Given the description of an element on the screen output the (x, y) to click on. 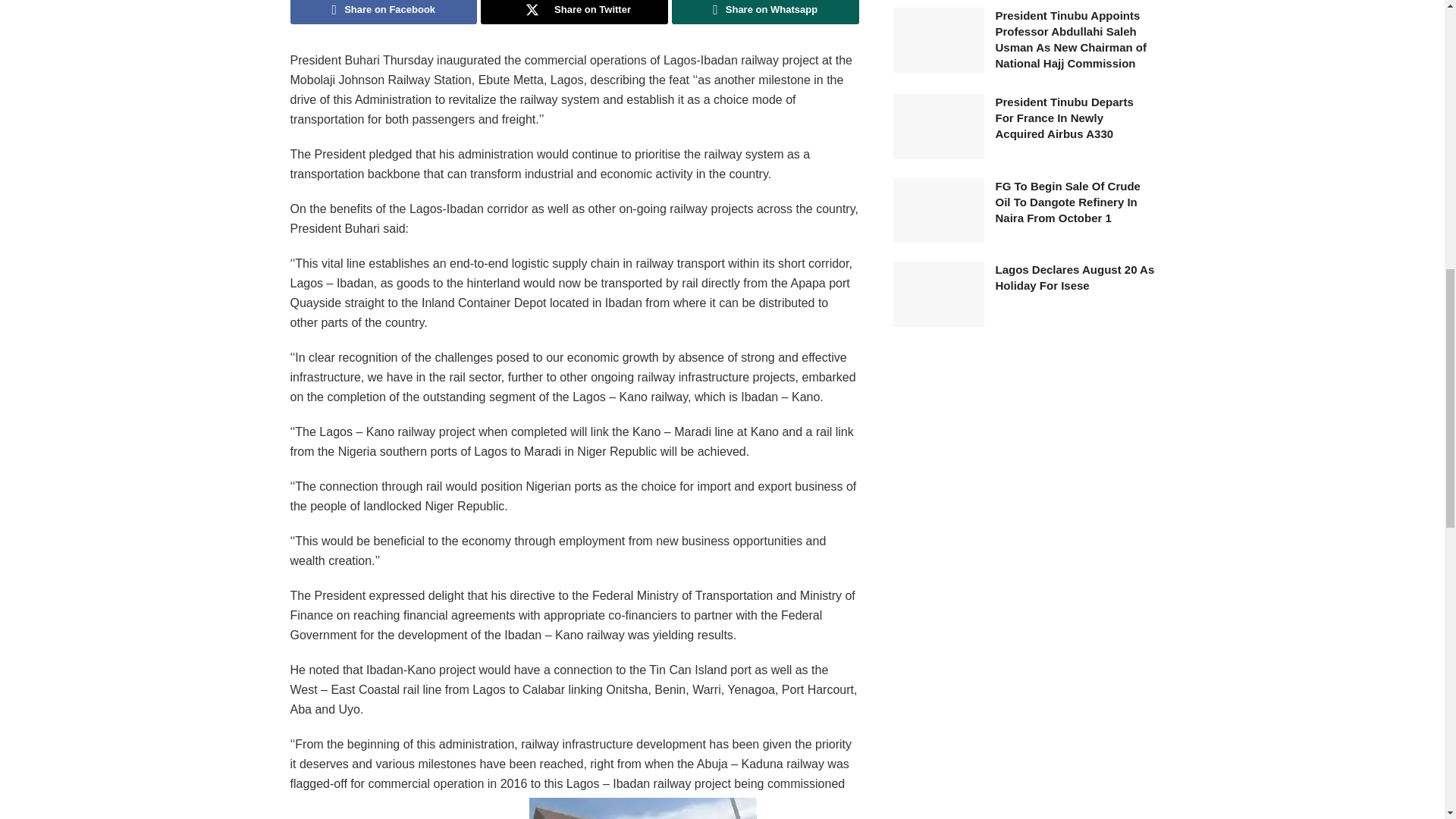
Share on Twitter (574, 12)
Share on Whatsapp (765, 12)
Share on Facebook (383, 12)
